Given the description of an element on the screen output the (x, y) to click on. 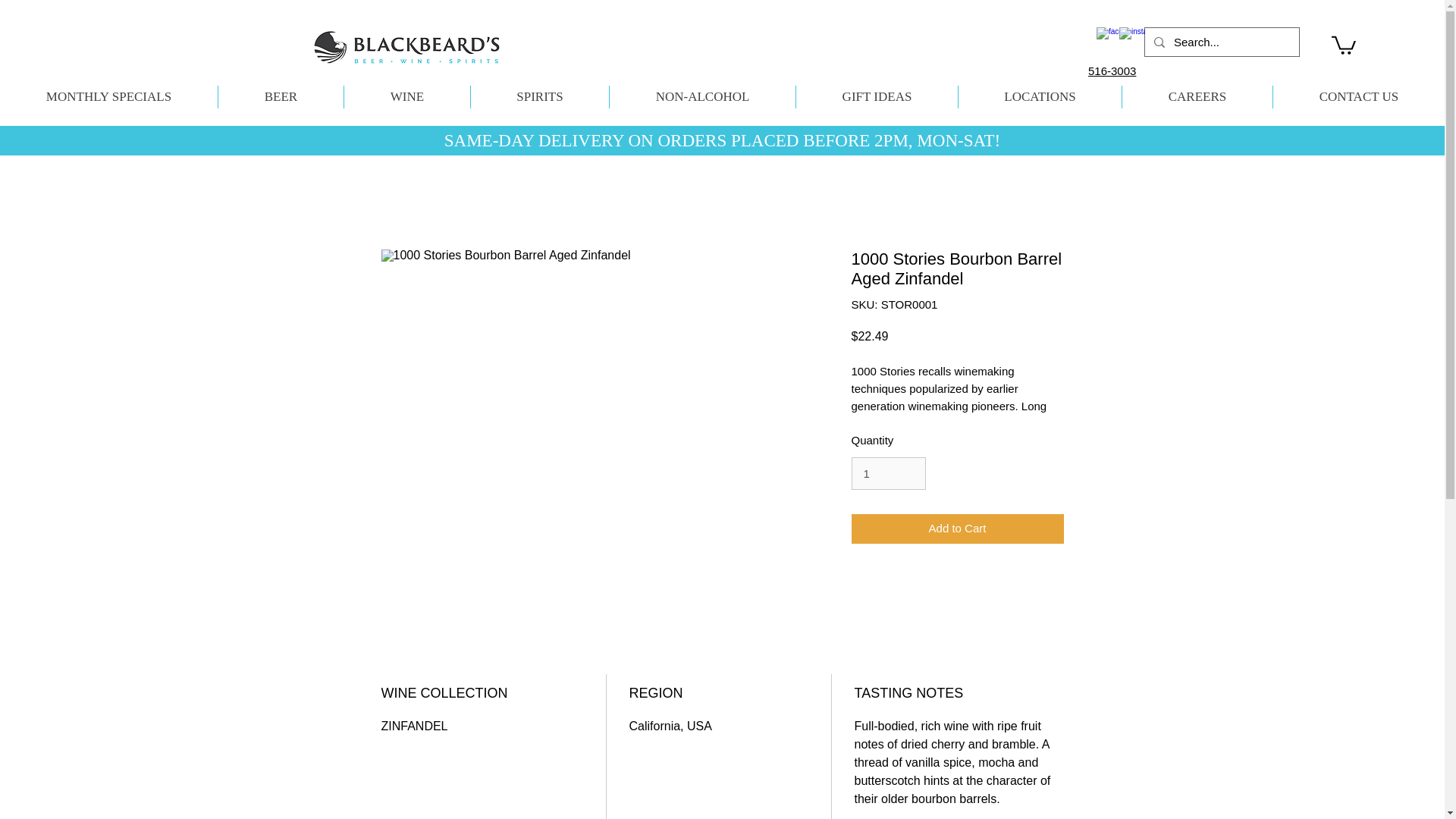
516-3003 (1111, 70)
MONTHLY SPECIALS (108, 96)
WINE (406, 96)
1 (887, 473)
SPIRITS (539, 96)
BEER (280, 96)
GIFT IDEAS (877, 96)
